Given the description of an element on the screen output the (x, y) to click on. 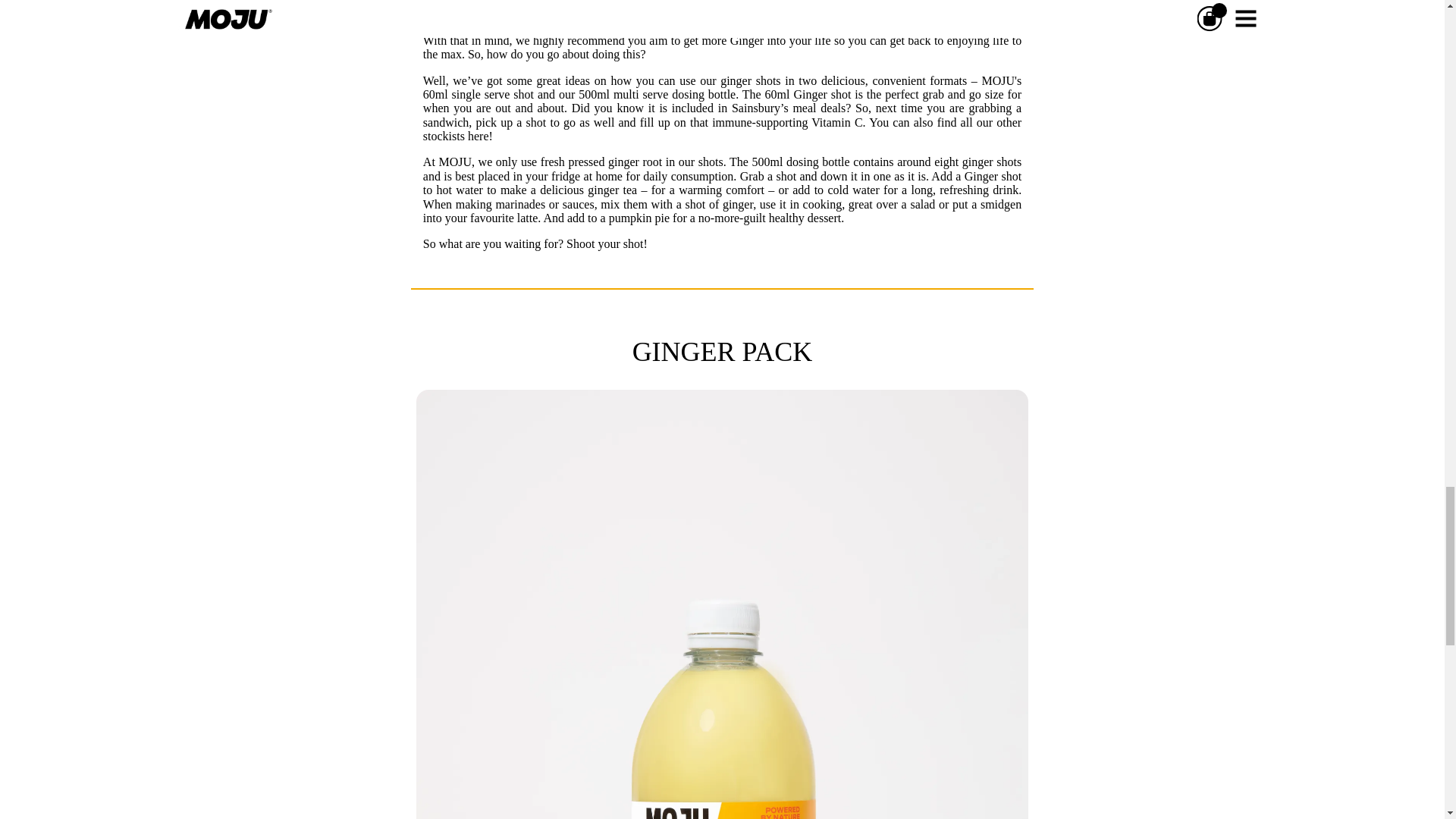
Ginger shot (821, 93)
Ginger (746, 40)
